Given the description of an element on the screen output the (x, y) to click on. 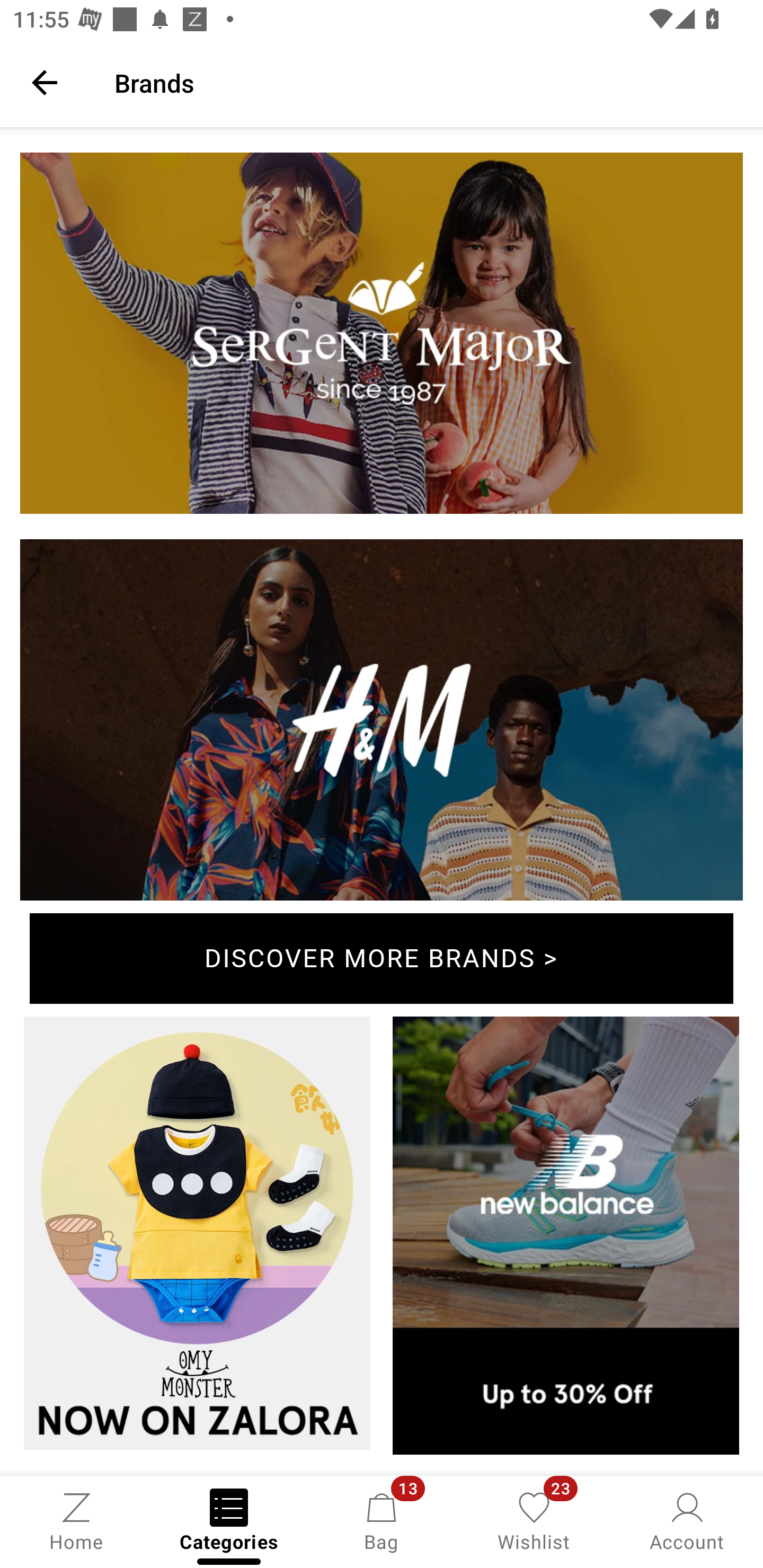
Navigate up (44, 82)
Brands (426, 82)
7-App-T1A-B-Banner-800x400 (381, 336)
3-App-T1A-B-Banner-800x400-C (381, 723)
DISCOVER MORE BRANDS > (381, 958)
DESKTOP_APP_ZAP_Standard_Grid_-_640x800 (197, 1236)
APP_Grid_380x480 (565, 1238)
Home (76, 1519)
Bag, 13 new notifications Bag (381, 1519)
Wishlist, 23 new notifications Wishlist (533, 1519)
Account (686, 1519)
